Given the description of an element on the screen output the (x, y) to click on. 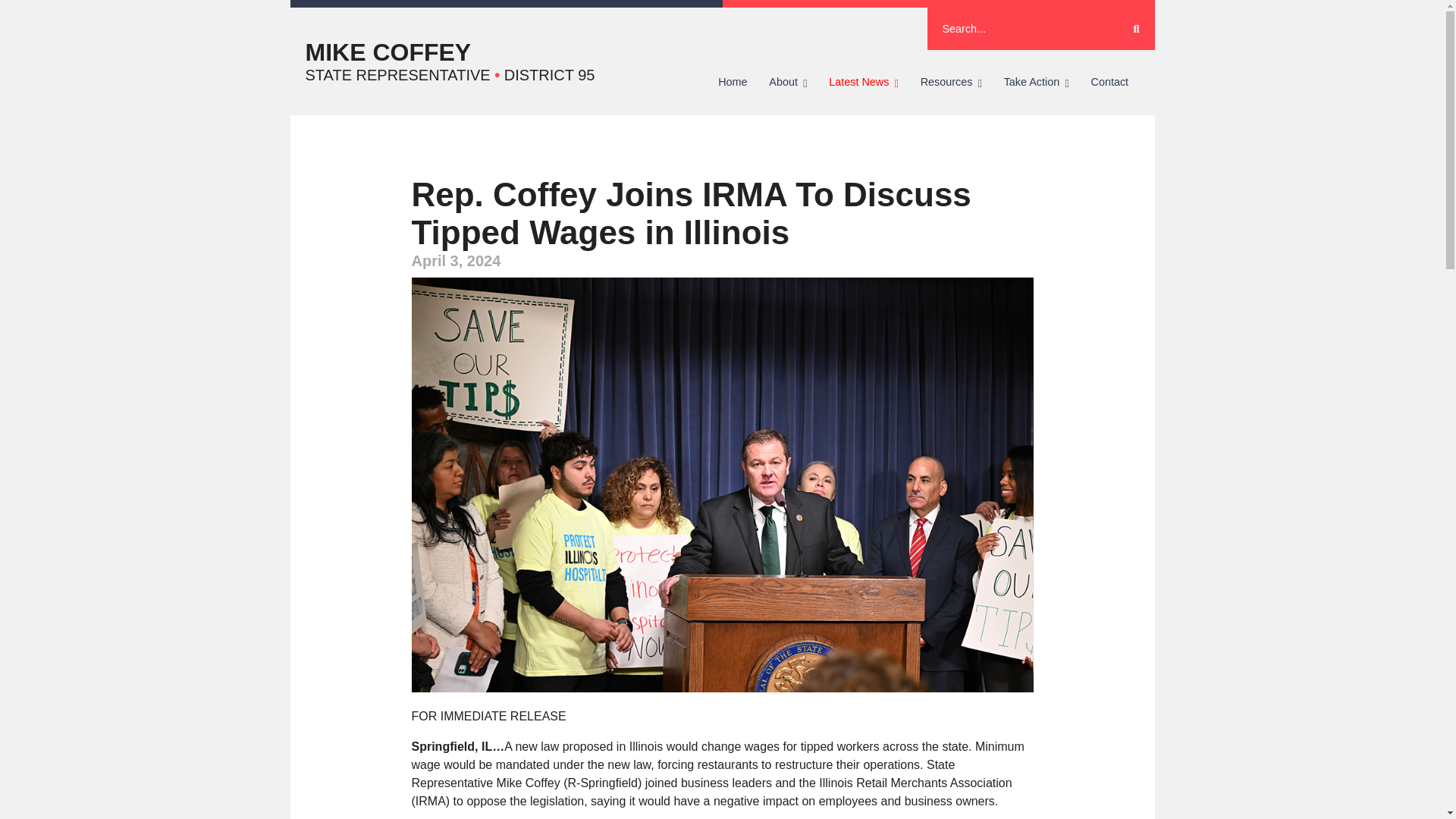
Latest News (863, 82)
About (788, 82)
Take Action (1036, 82)
Contact (1109, 82)
Home (732, 82)
Resources (950, 82)
